Given the description of an element on the screen output the (x, y) to click on. 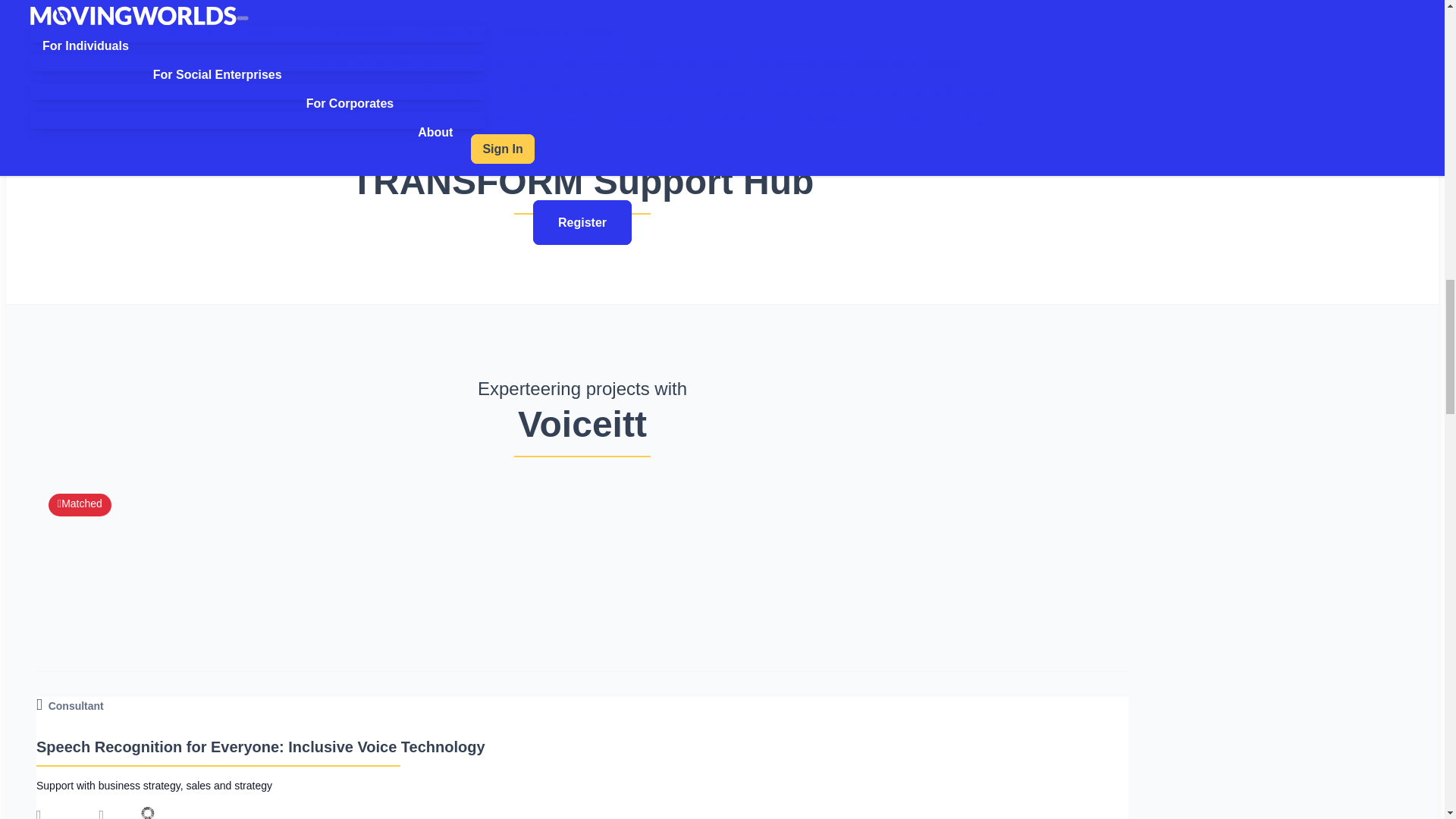
Register (581, 221)
